Given the description of an element on the screen output the (x, y) to click on. 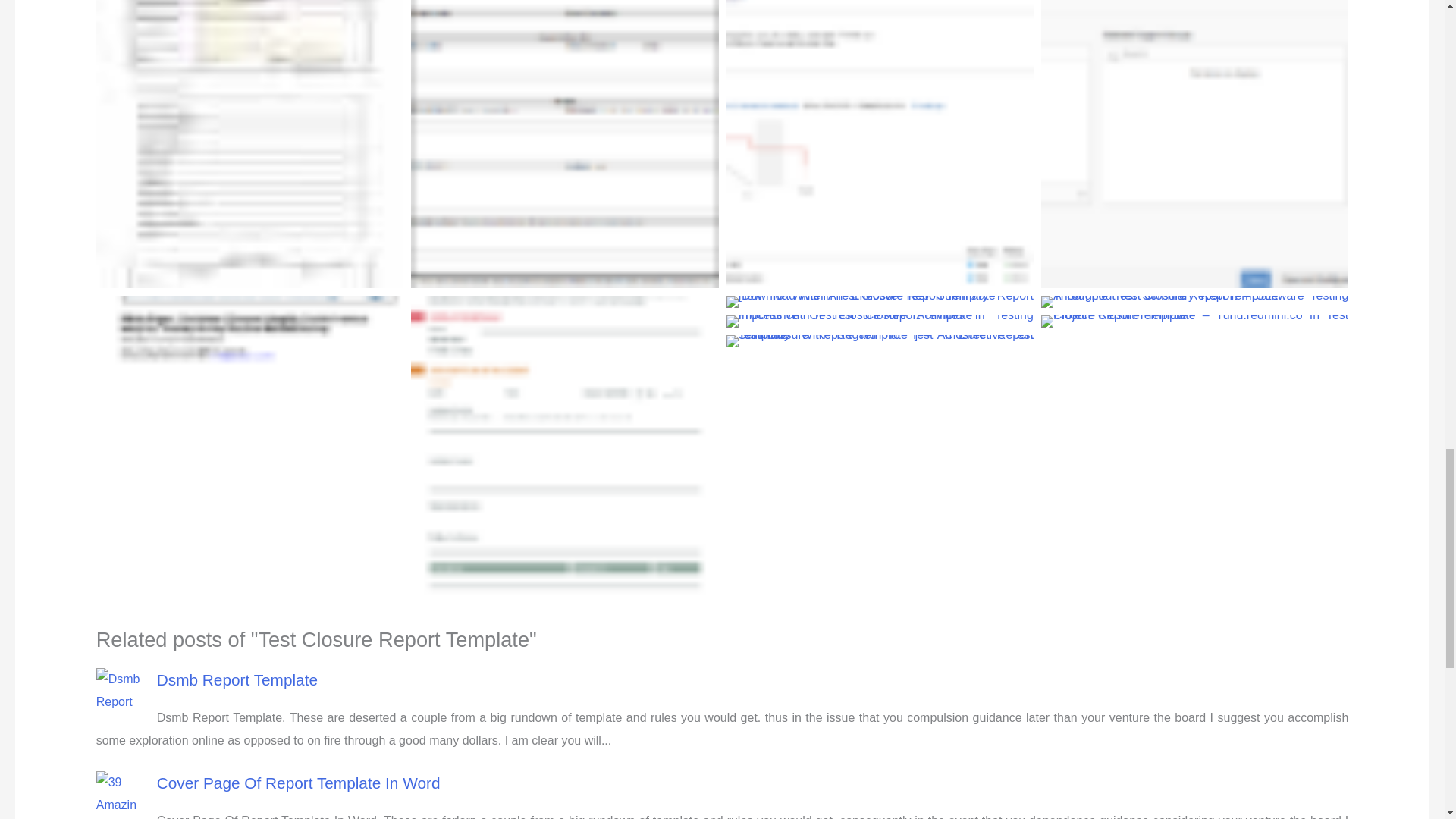
Incident Template Intended For Test Closure Report Template (1194, 143)
Dsmb Report Template (237, 679)
Cover Page Of Report Template In Word (299, 782)
